Given the description of an element on the screen output the (x, y) to click on. 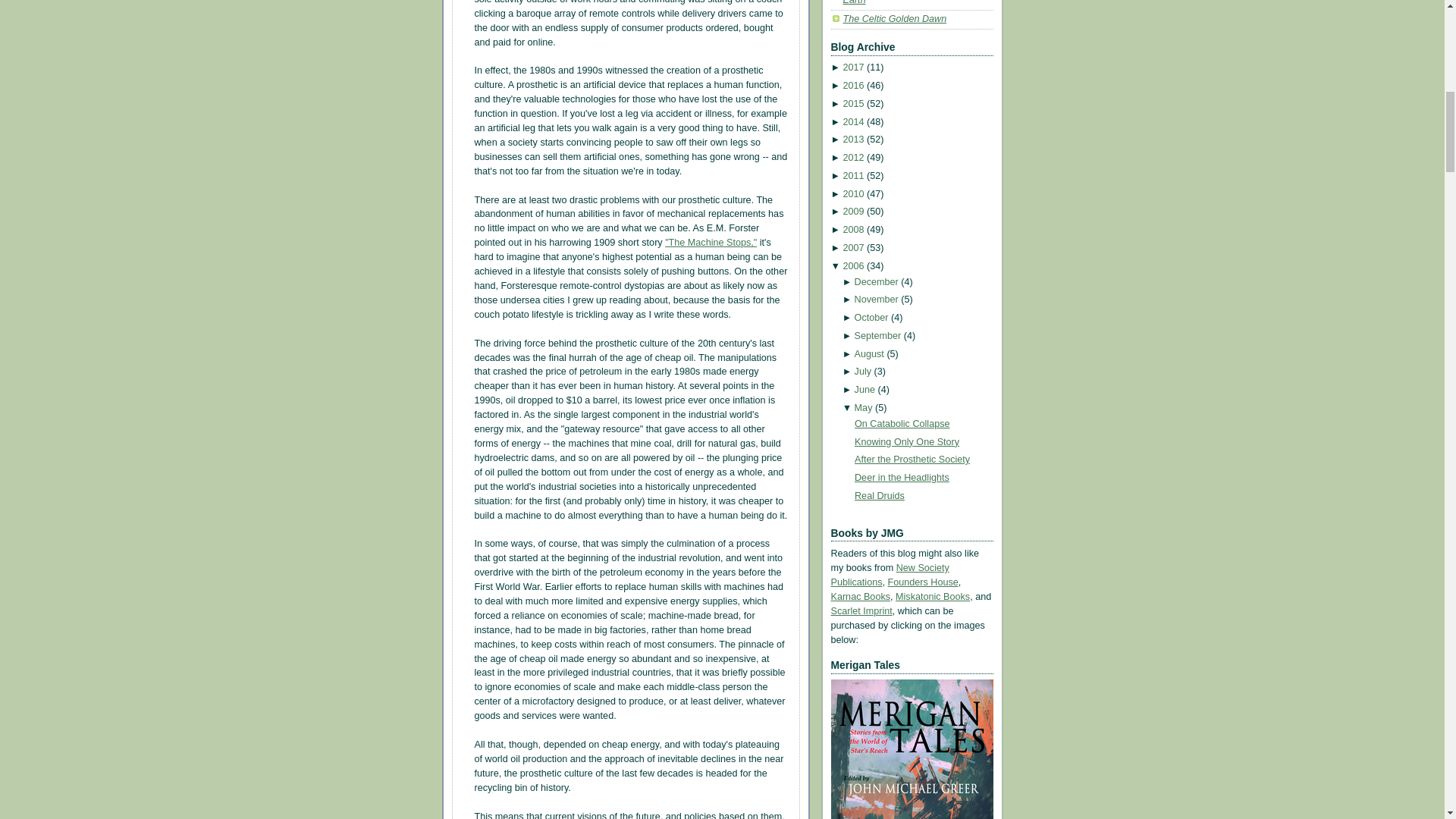
2016 (853, 85)
2017 (853, 67)
2010 (853, 194)
2012 (853, 157)
"The Machine Stops," (711, 242)
2014 (853, 122)
Mystery Teachings from the Living Earth (915, 2)
2013 (853, 139)
2011 (853, 175)
The Celtic Golden Dawn (895, 18)
2015 (853, 103)
